Given the description of an element on the screen output the (x, y) to click on. 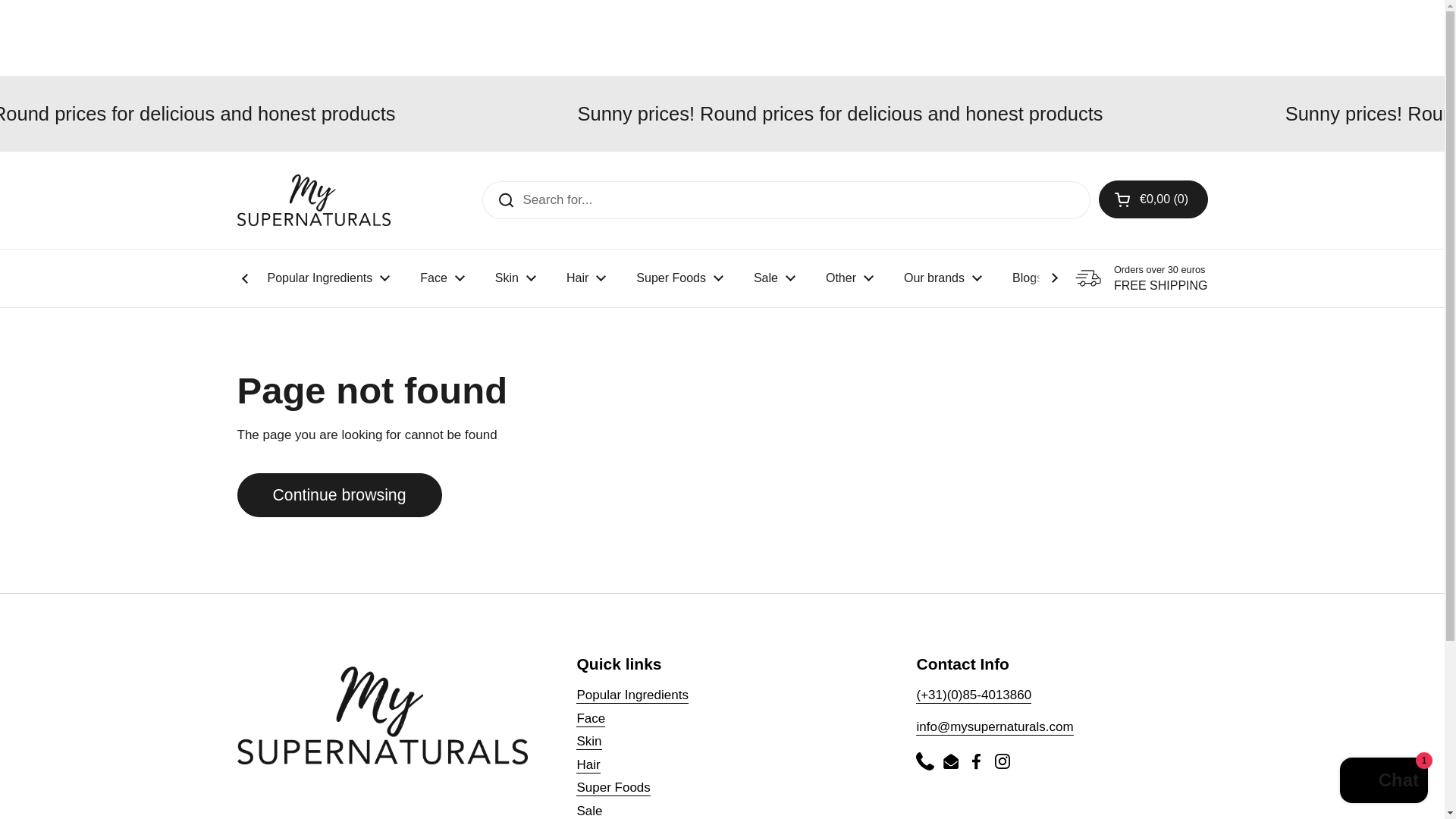
MySupernaturals (312, 200)
Open cart (1153, 199)
Sunny prices! Round prices for delicious and honest products (839, 113)
Popular Ingredients (327, 278)
Sunny prices! Round prices for delicious and honest products (243, 113)
Shopify online store chat (1383, 781)
